Given the description of an element on the screen output the (x, y) to click on. 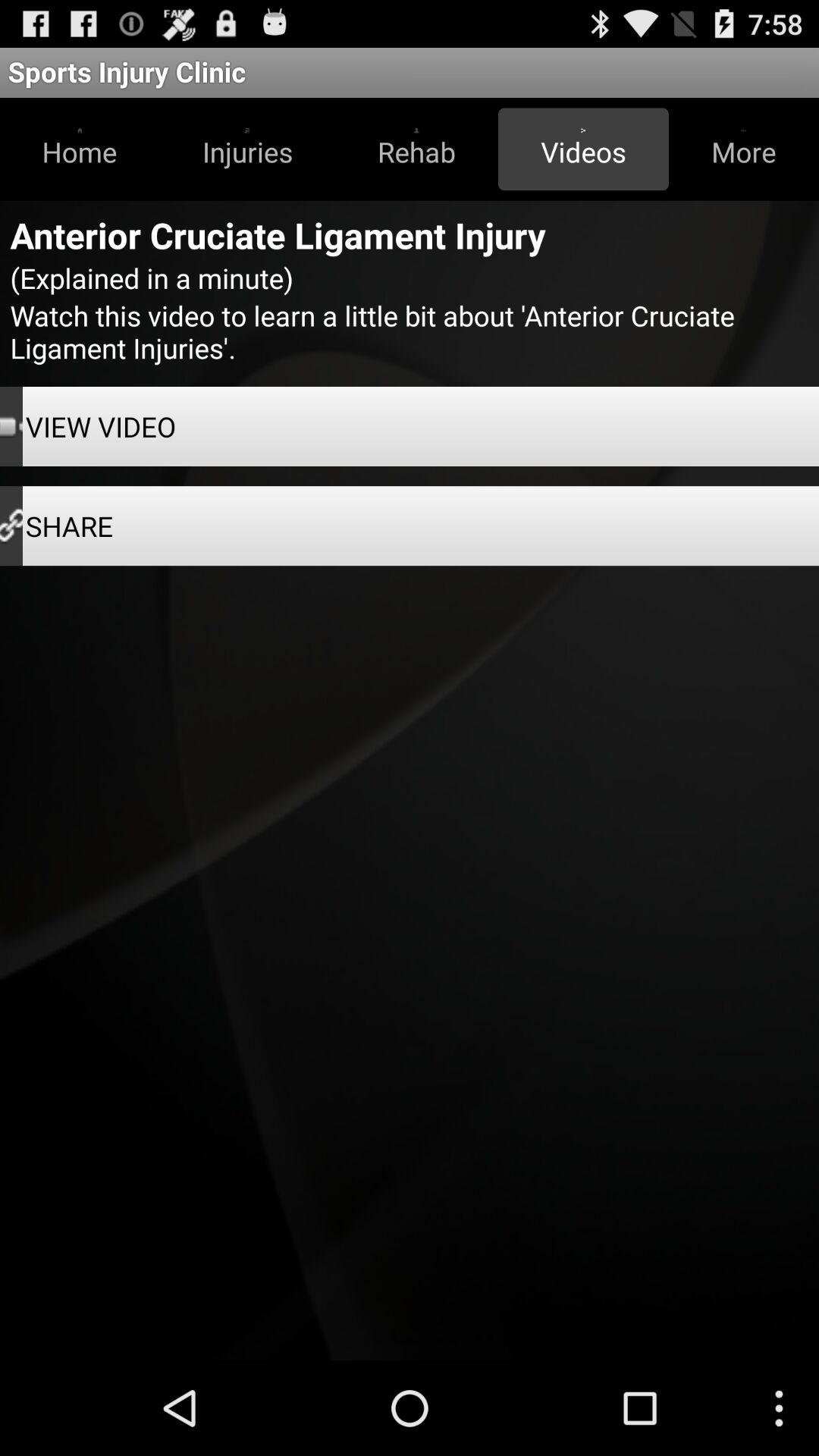
turn on the icon next to injuries button (79, 149)
